Given the description of an element on the screen output the (x, y) to click on. 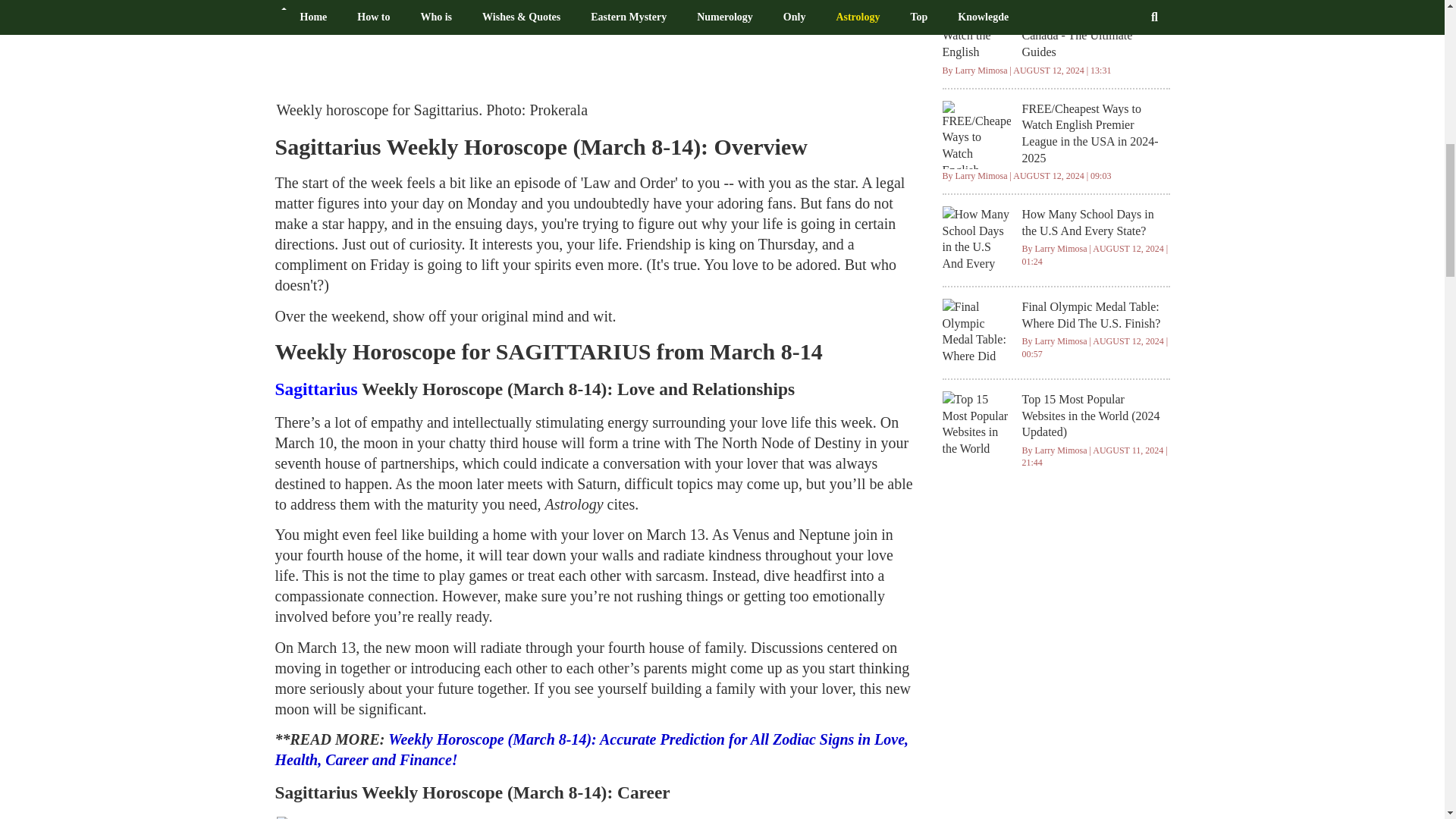
Weekly horoscope for Sagittarius. Photo: Prokerala (552, 46)
Sagittarius (318, 388)
Photo: Farmers' Almanac (358, 817)
